Given the description of an element on the screen output the (x, y) to click on. 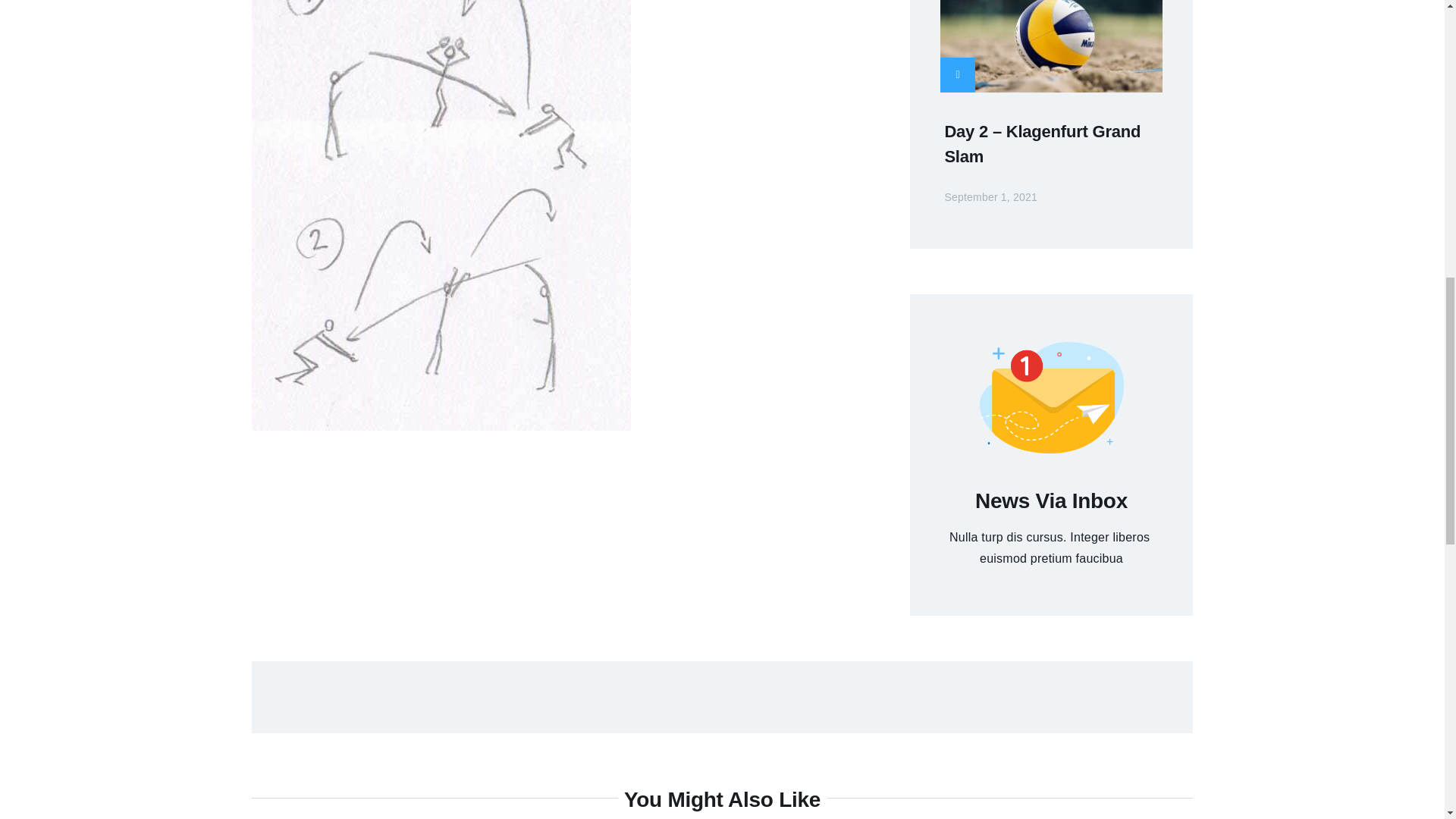
pepper-setter2 (440, 305)
September 1, 2021 (999, 196)
setter-pepper (440, 90)
